Given the description of an element on the screen output the (x, y) to click on. 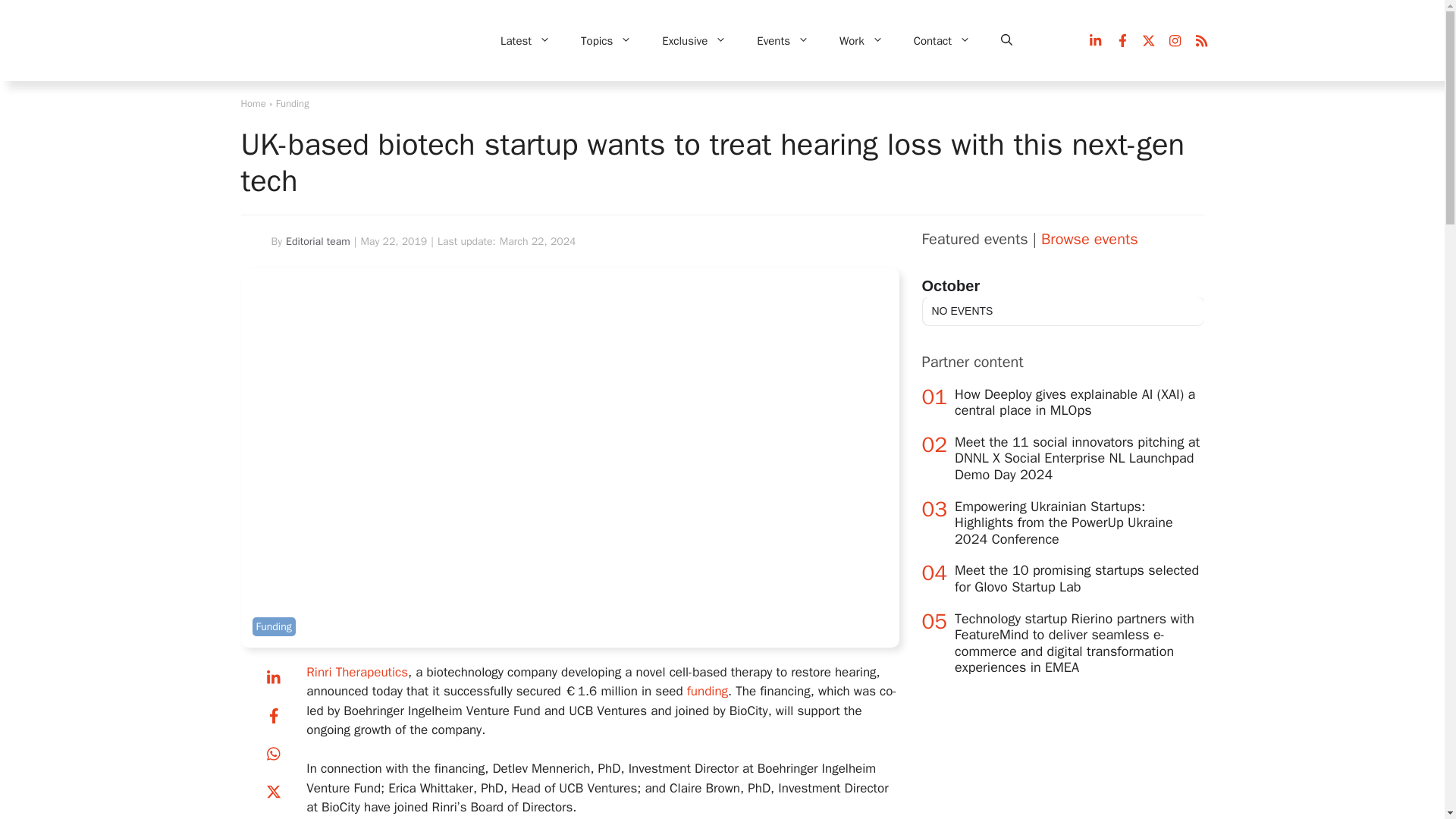
Events (782, 40)
Exclusive (693, 40)
SC 10 year horizontal (335, 40)
Latest (525, 40)
Topics (606, 40)
Work (861, 40)
